Given the description of an element on the screen output the (x, y) to click on. 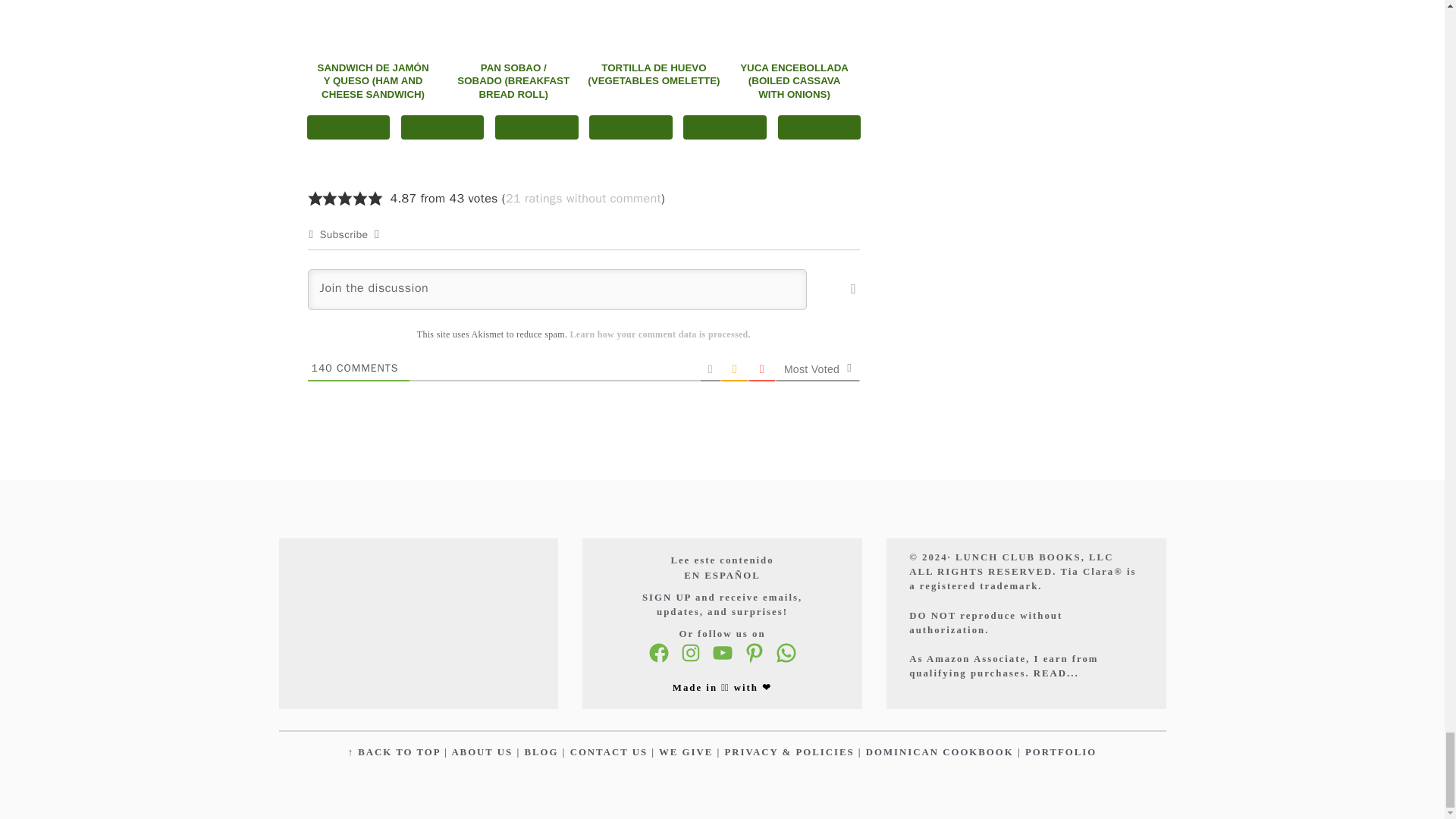
Share on Reddit (724, 127)
Save to Pinterest (442, 127)
Share on Yummly (630, 127)
Share on WhatsApp (536, 127)
Share on Facebook (347, 127)
